Given the description of an element on the screen output the (x, y) to click on. 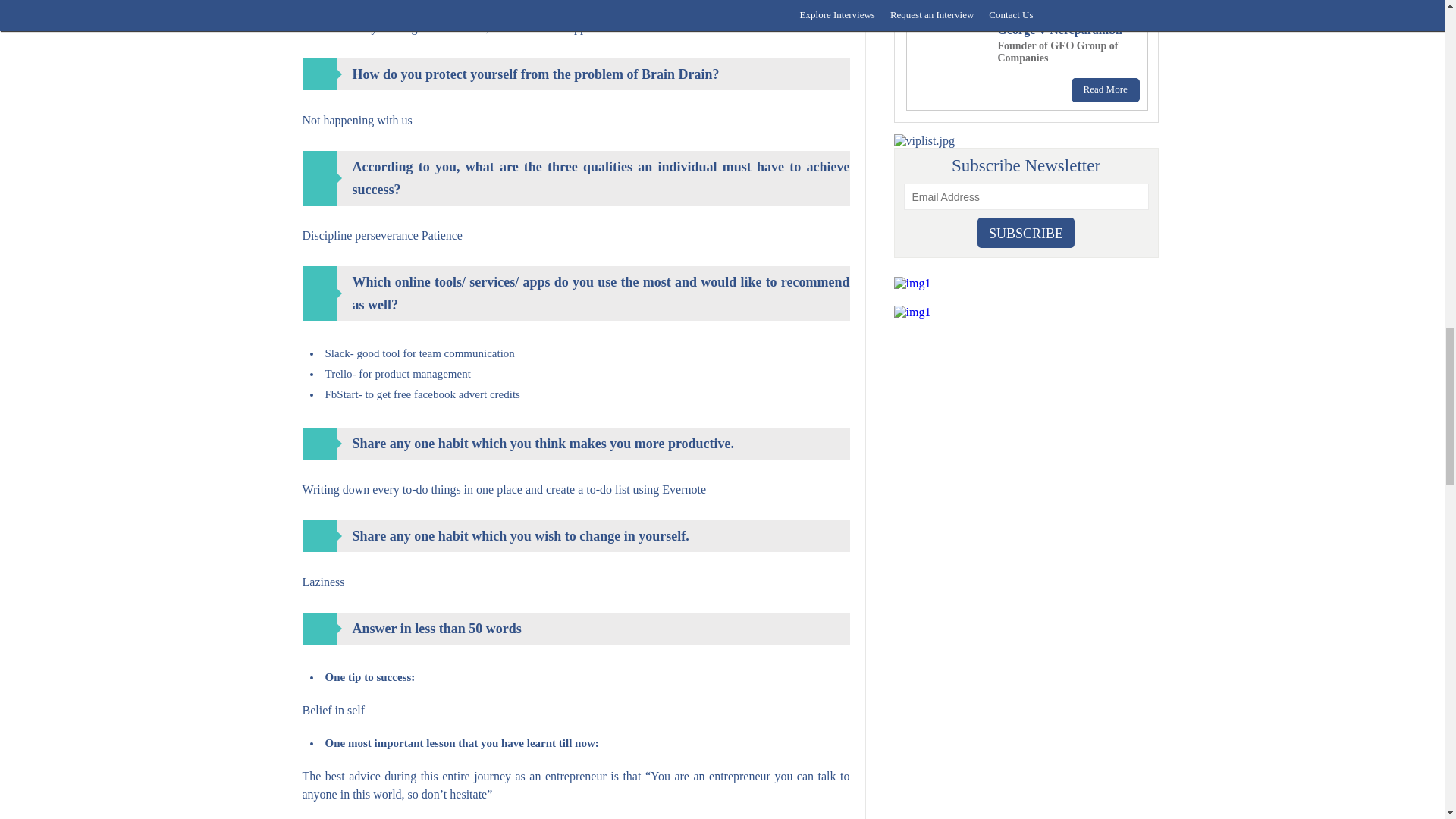
Subscribe (1025, 232)
